Given the description of an element on the screen output the (x, y) to click on. 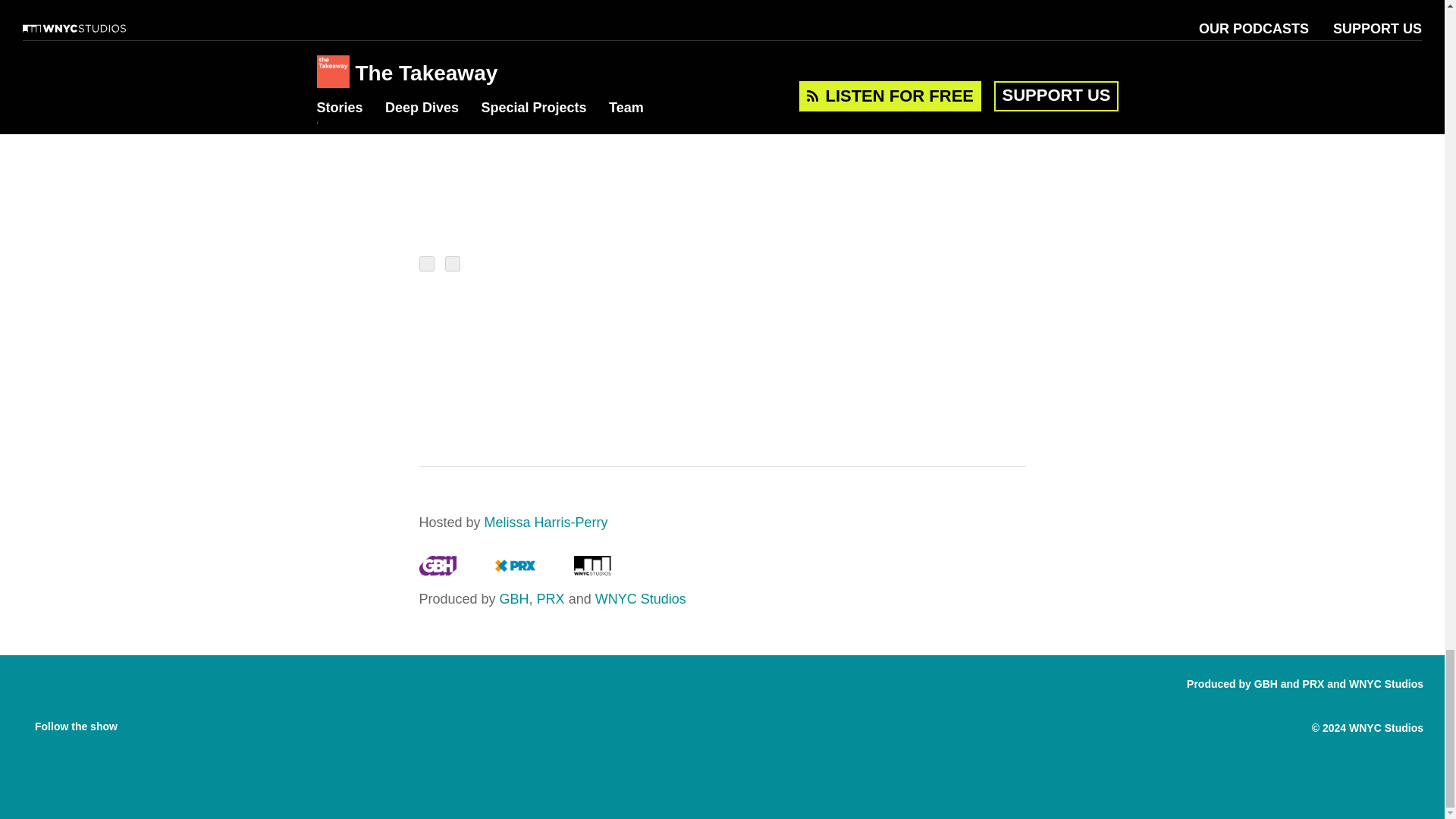
WNYC Studios (591, 570)
GBH (437, 570)
Follow the show on instagram (198, 722)
Follow the show on twitter (168, 722)
Follow the show on facebook (139, 722)
PRX (515, 570)
